Given the description of an element on the screen output the (x, y) to click on. 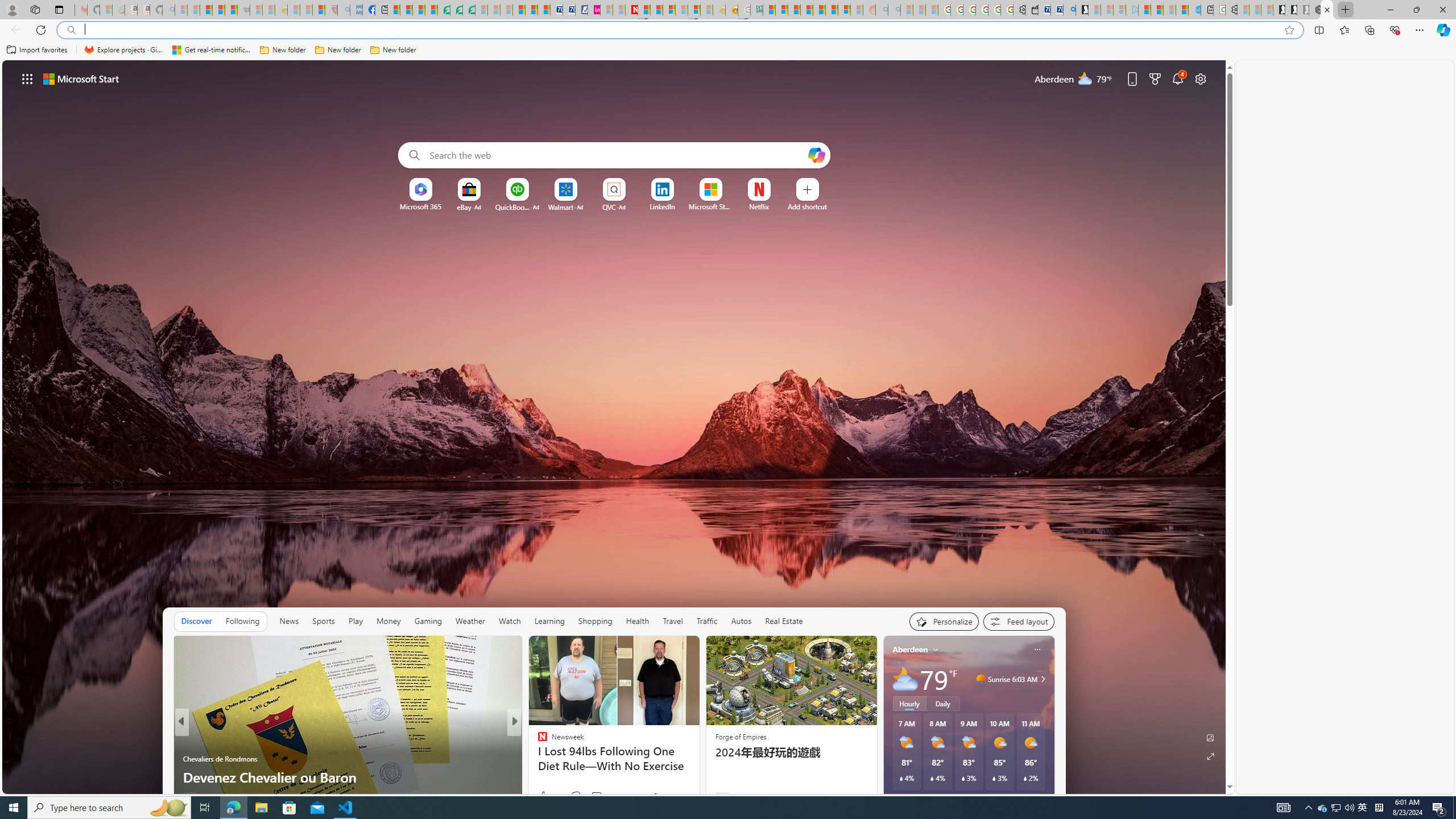
LinkedIn (662, 206)
View comments 10 Comment (589, 797)
Microsoft account | Privacy - Sleeping (1119, 9)
View comments 18 Comment (589, 797)
Nordace - Nordace Siena Is Not An Ordinary Backpack (1315, 9)
View comments 1 Comment (592, 796)
Watch (509, 621)
Play (354, 621)
Sports (323, 621)
